Given the description of an element on the screen output the (x, y) to click on. 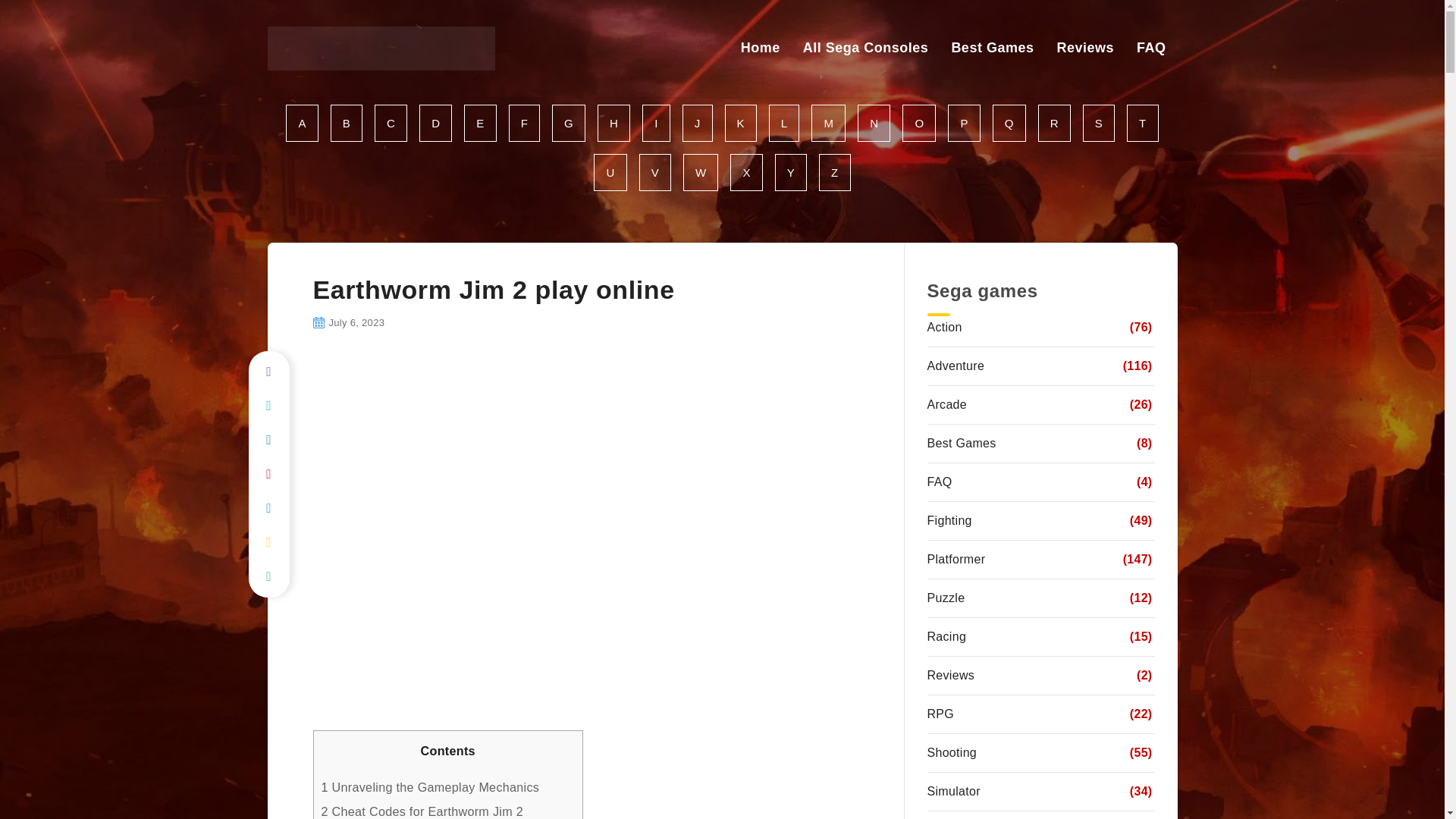
W (699, 171)
Q of sega (1009, 122)
M (827, 122)
O of sega (919, 122)
Home (760, 47)
M of sega (827, 122)
O (919, 122)
G of sega (568, 122)
Best Games (991, 47)
Q (1009, 122)
